Given the description of an element on the screen output the (x, y) to click on. 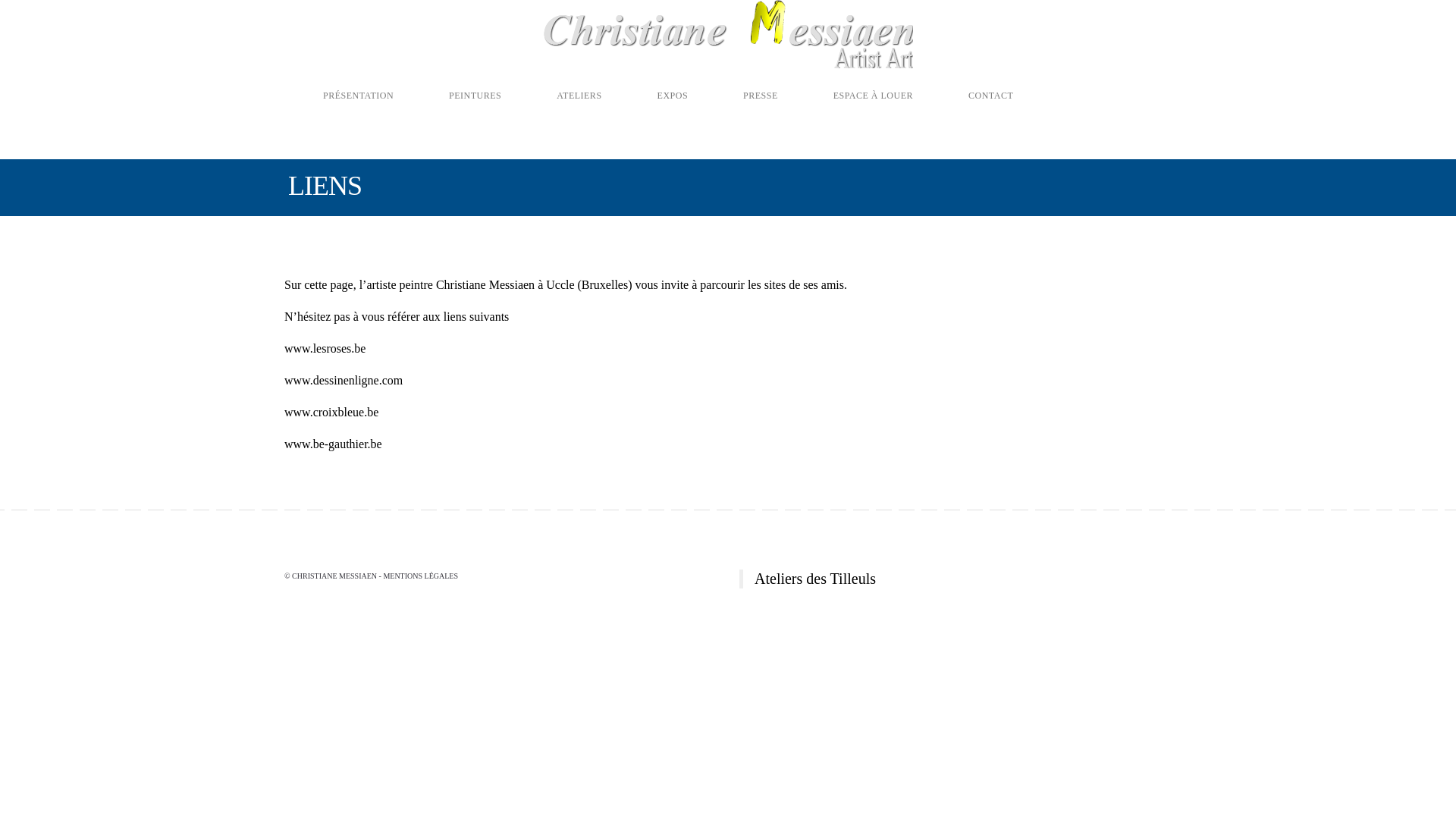
www.dessinenligne.com Element type: text (343, 379)
CONTACT Element type: text (971, 87)
www.croixbleue.be Element type: text (331, 411)
Ateliers des Tilleuls Element type: text (814, 578)
www.be-gauthier.be Element type: text (333, 443)
PEINTURES Element type: text (455, 87)
www.lesroses.be Element type: text (324, 348)
EXPOS Element type: text (653, 87)
ATELIERS Element type: text (559, 87)
PRESSE Element type: text (741, 87)
